Given the description of an element on the screen output the (x, y) to click on. 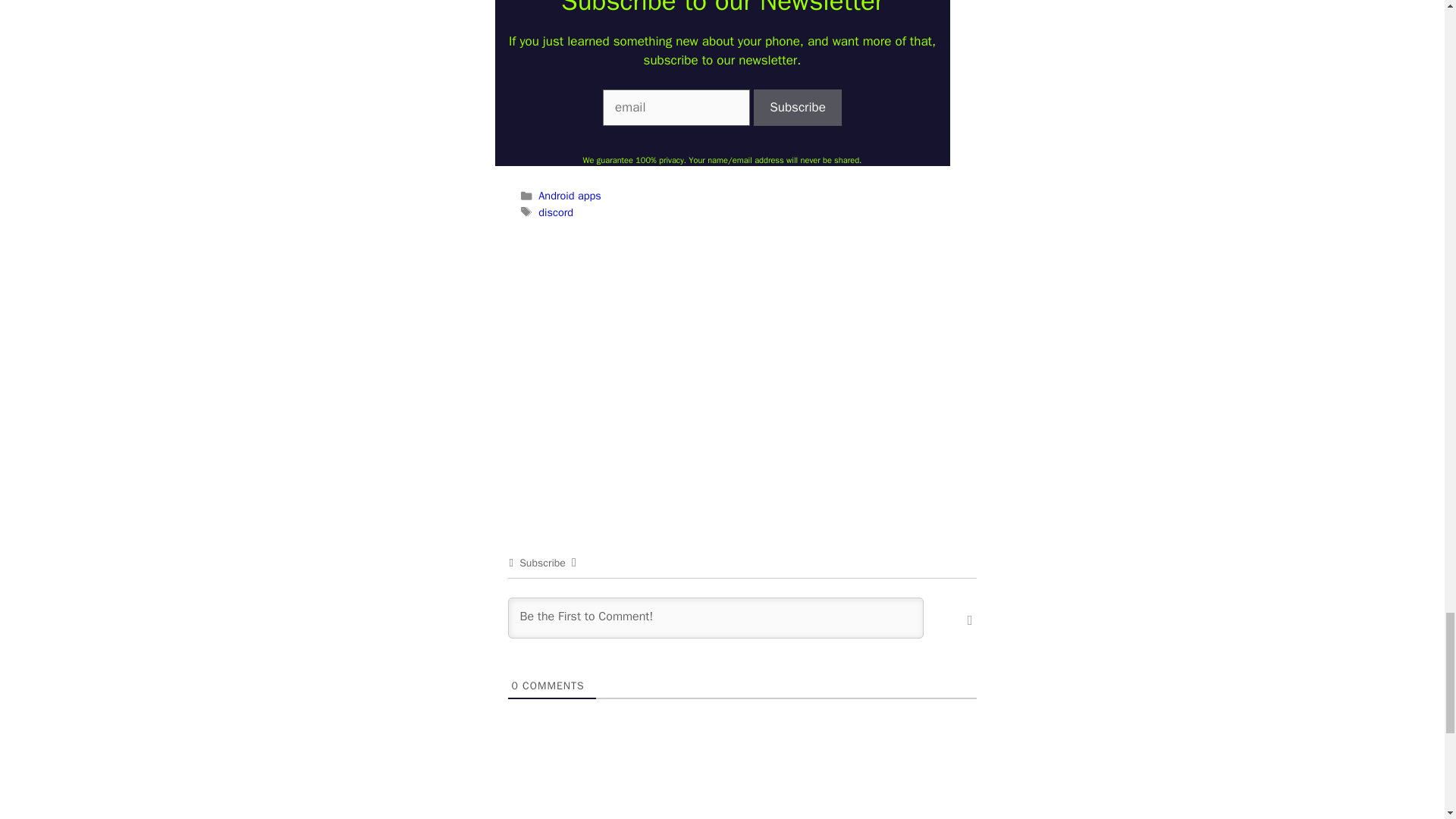
discord (555, 212)
Android apps (568, 195)
Subscribe (797, 107)
0 (514, 685)
Subscribe (797, 107)
